Given the description of an element on the screen output the (x, y) to click on. 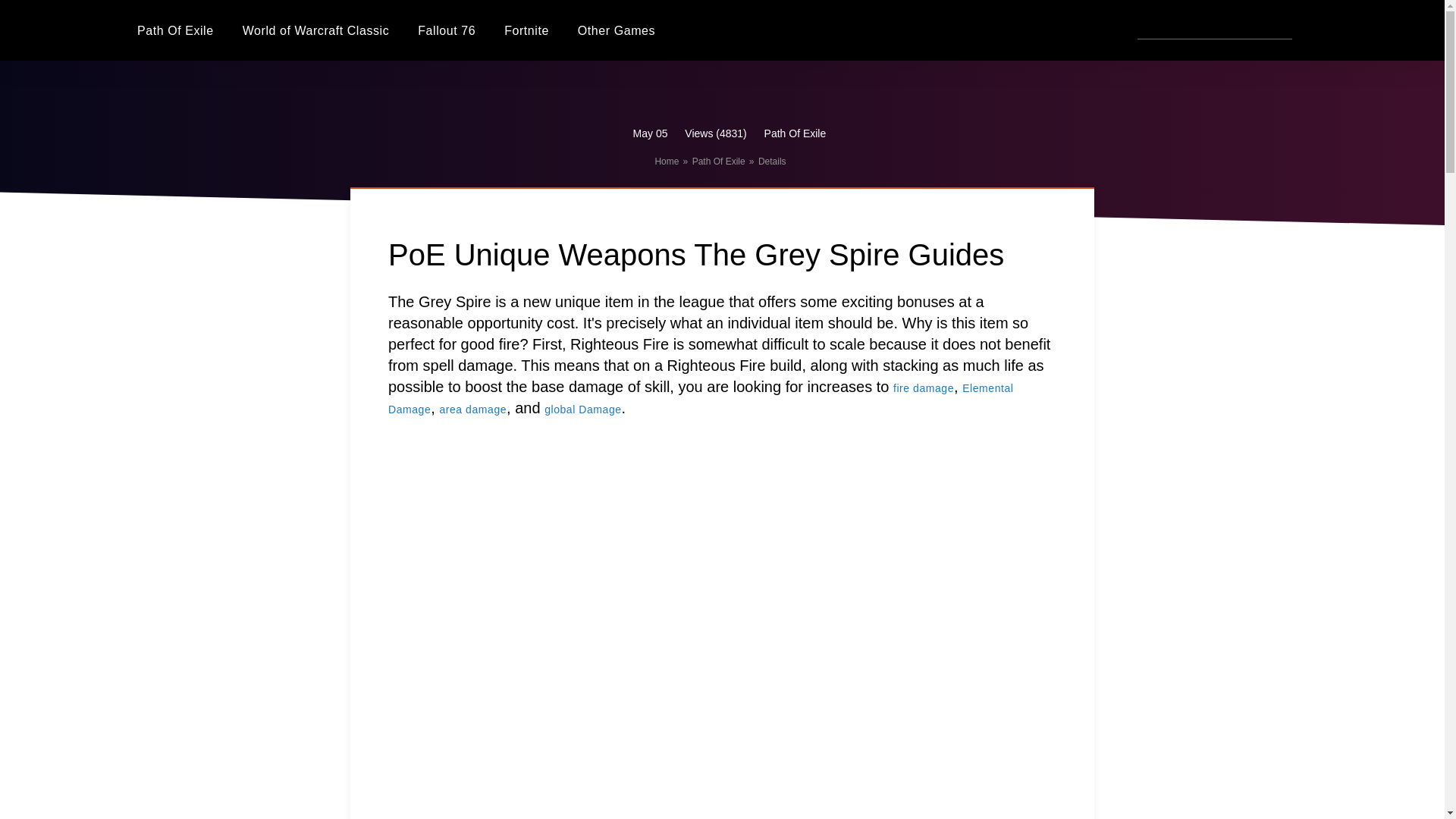
Path Of Exile (175, 30)
Elemental Damage (700, 398)
Game News (616, 30)
Fortnite (525, 30)
Home (665, 161)
global Damage (582, 409)
Fallout 76 (446, 30)
Other Games (616, 30)
Path Of Exile (719, 161)
fire damage (923, 387)
Path Of Exile (719, 161)
area damage (472, 409)
World of Warcraft Classic (316, 30)
